Given the description of an element on the screen output the (x, y) to click on. 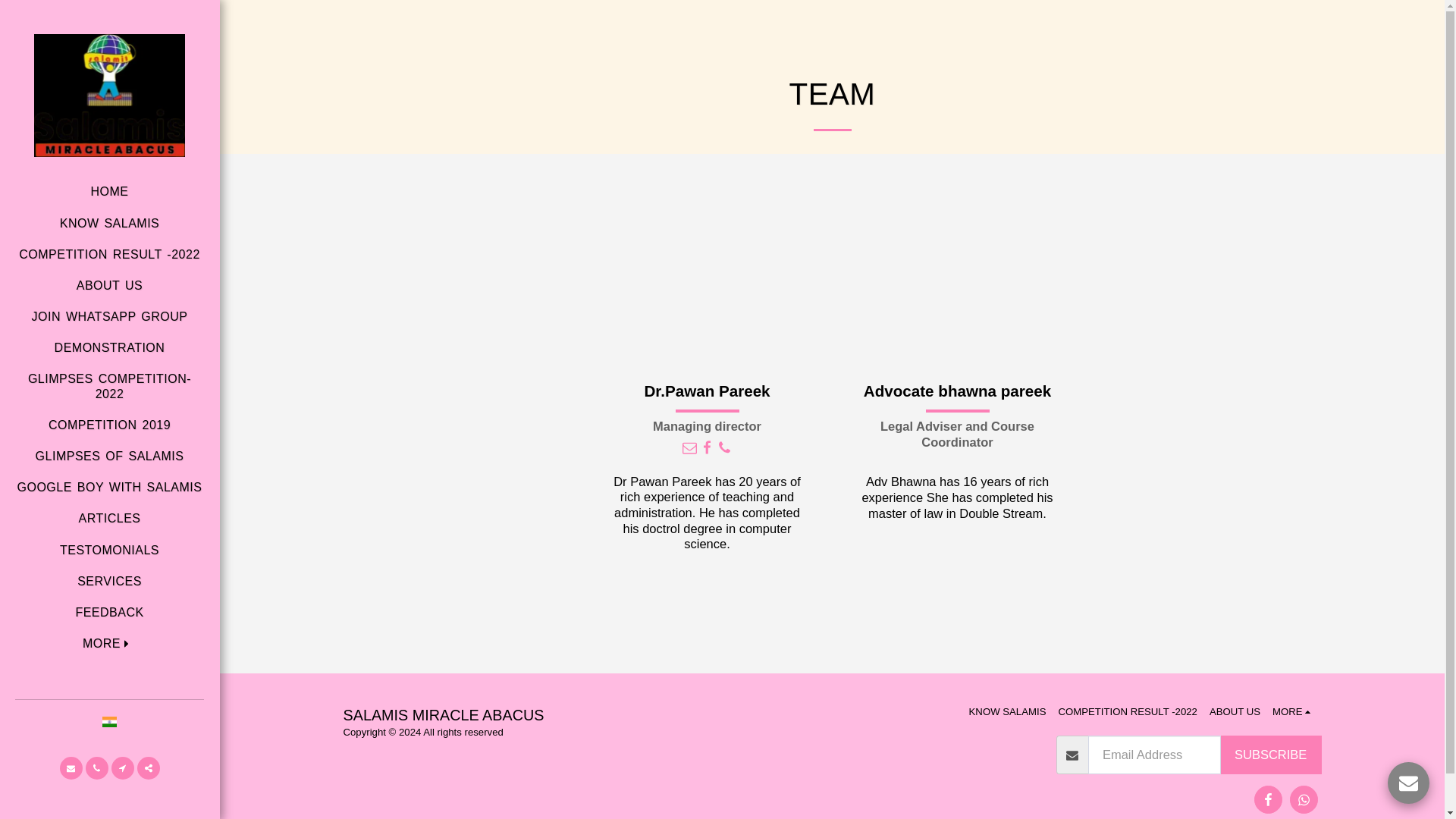
ARTICLES (109, 518)
FEEDBACK (108, 611)
COMPETITION 2019 (109, 424)
COMPETITION RESULT -2022 (109, 253)
SERVICES (109, 581)
MORE   (109, 642)
KNOW SALAMIS (109, 222)
GOOGLE BOY WITH SALAMIS (109, 487)
GLIMPSES COMPETITION-2022 (108, 385)
